Given the description of an element on the screen output the (x, y) to click on. 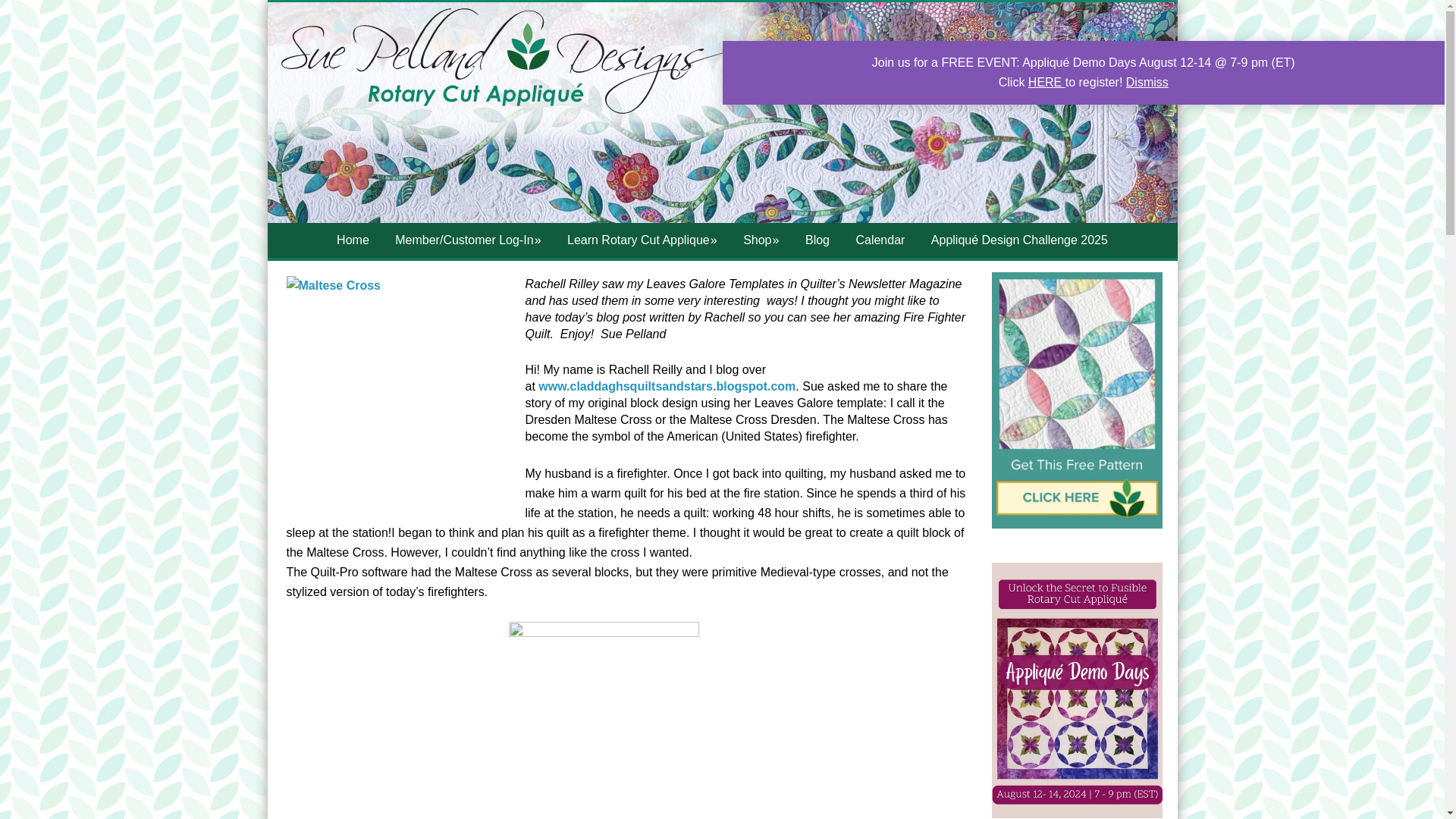
Maltese Cross (399, 386)
Shop (761, 239)
Home (352, 239)
Learn Rotary Cut Applique (642, 239)
